Given the description of an element on the screen output the (x, y) to click on. 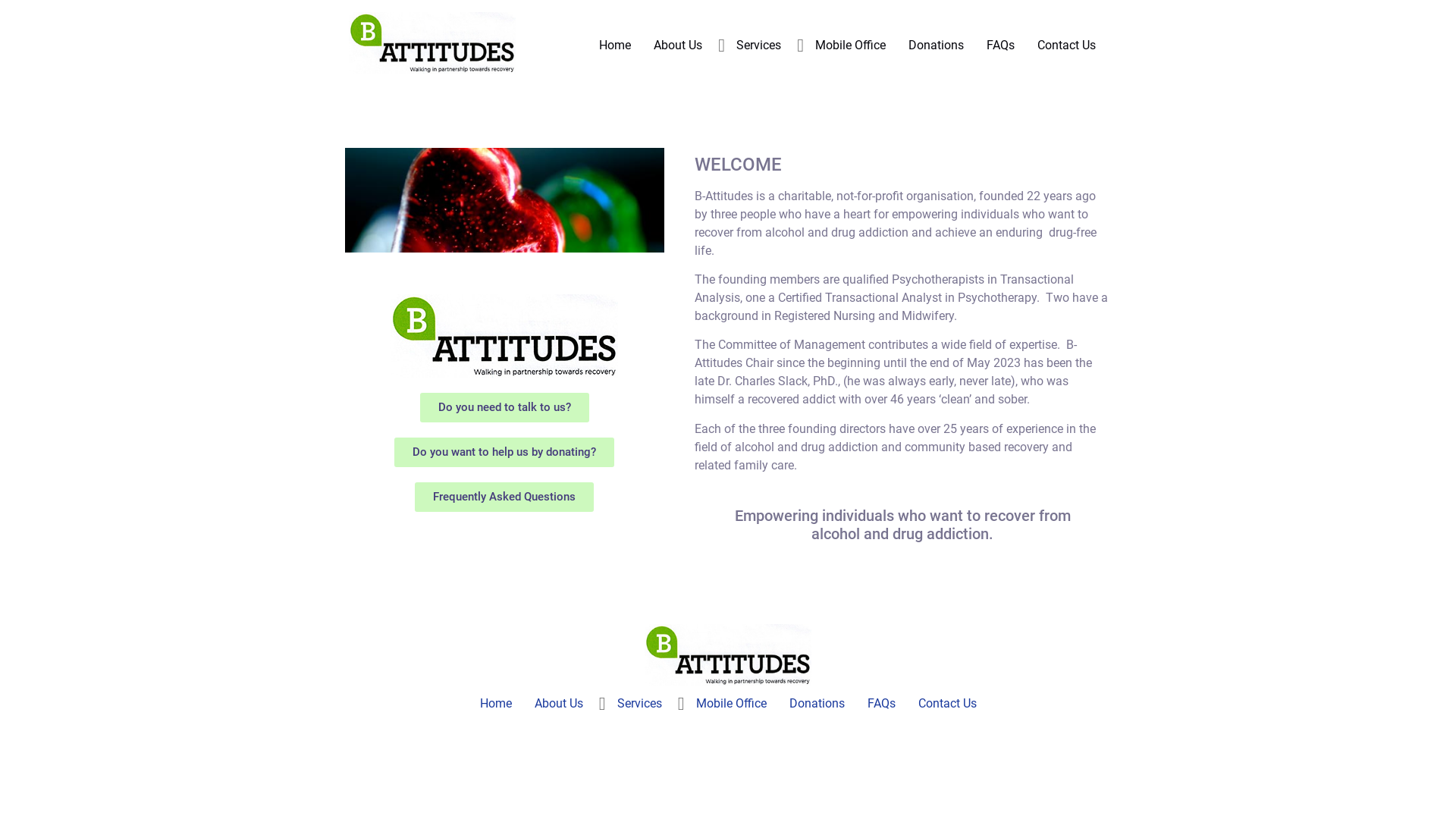
Services Element type: text (638, 703)
Contact Us Element type: text (1066, 45)
Mobile Office Element type: text (730, 703)
Donations Element type: text (817, 703)
Donations Element type: text (936, 45)
Contact Us Element type: text (947, 703)
Mobile Office Element type: text (850, 45)
Do you need to talk to us? Element type: text (504, 407)
About Us Element type: text (677, 45)
FAQs Element type: text (880, 703)
Services Element type: text (758, 45)
FAQs Element type: text (1000, 45)
Home Element type: text (495, 703)
Home Element type: text (614, 45)
Frequently Asked Questions Element type: text (503, 496)
About Us Element type: text (558, 703)
Do you want to help us by donating? Element type: text (504, 452)
